Given the description of an element on the screen output the (x, y) to click on. 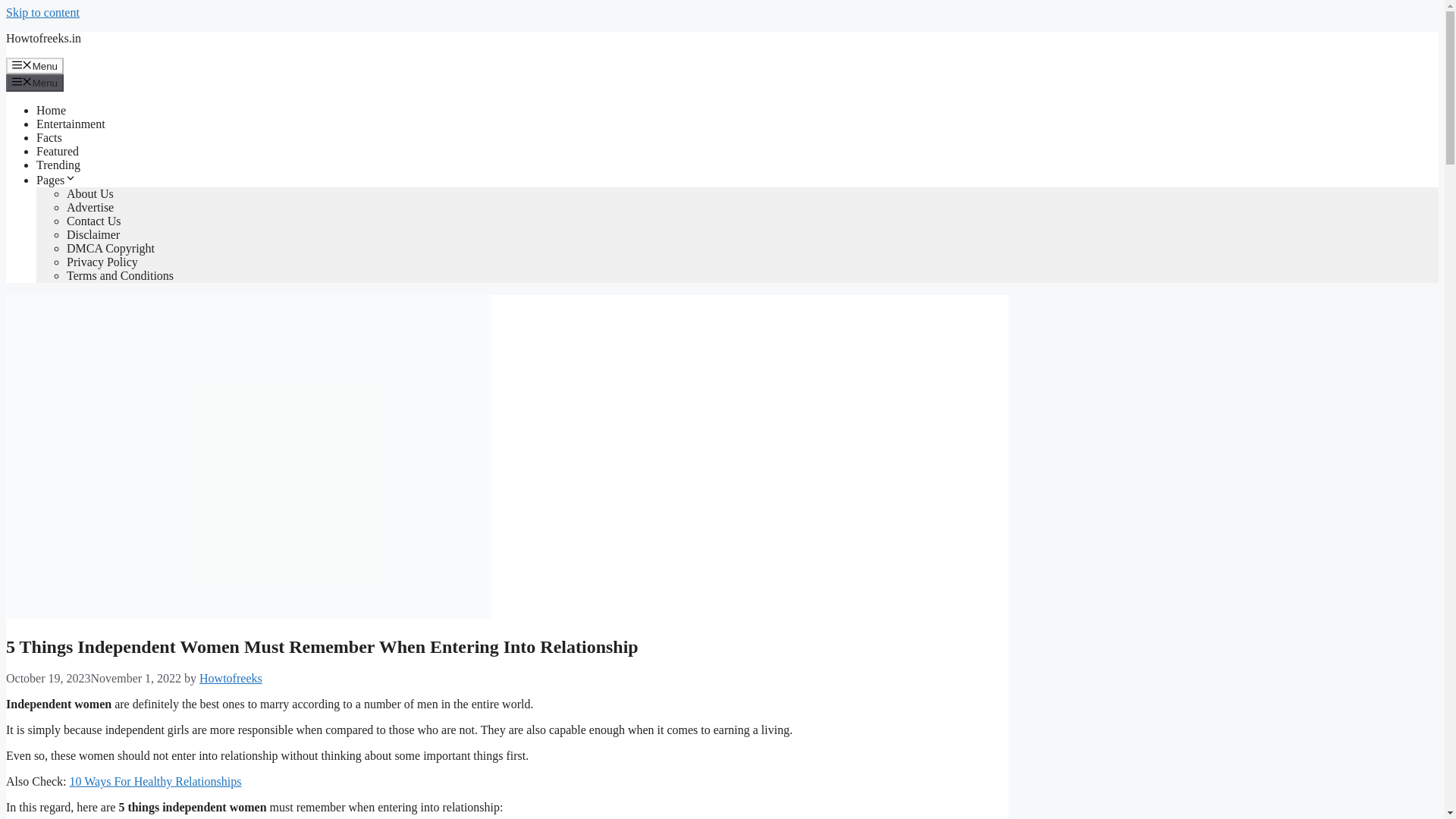
About Us (89, 193)
Howtofreeks (230, 677)
Contact Us (93, 220)
Menu (34, 82)
Disclaimer (92, 234)
Terms and Conditions (119, 275)
Menu (34, 65)
DMCA Copyright (110, 247)
Home (50, 110)
Trending (58, 164)
Facts (49, 137)
Featured (57, 151)
Skip to content (42, 11)
Privacy Policy (102, 261)
10 Ways For Healthy Relationships (155, 780)
